Given the description of an element on the screen output the (x, y) to click on. 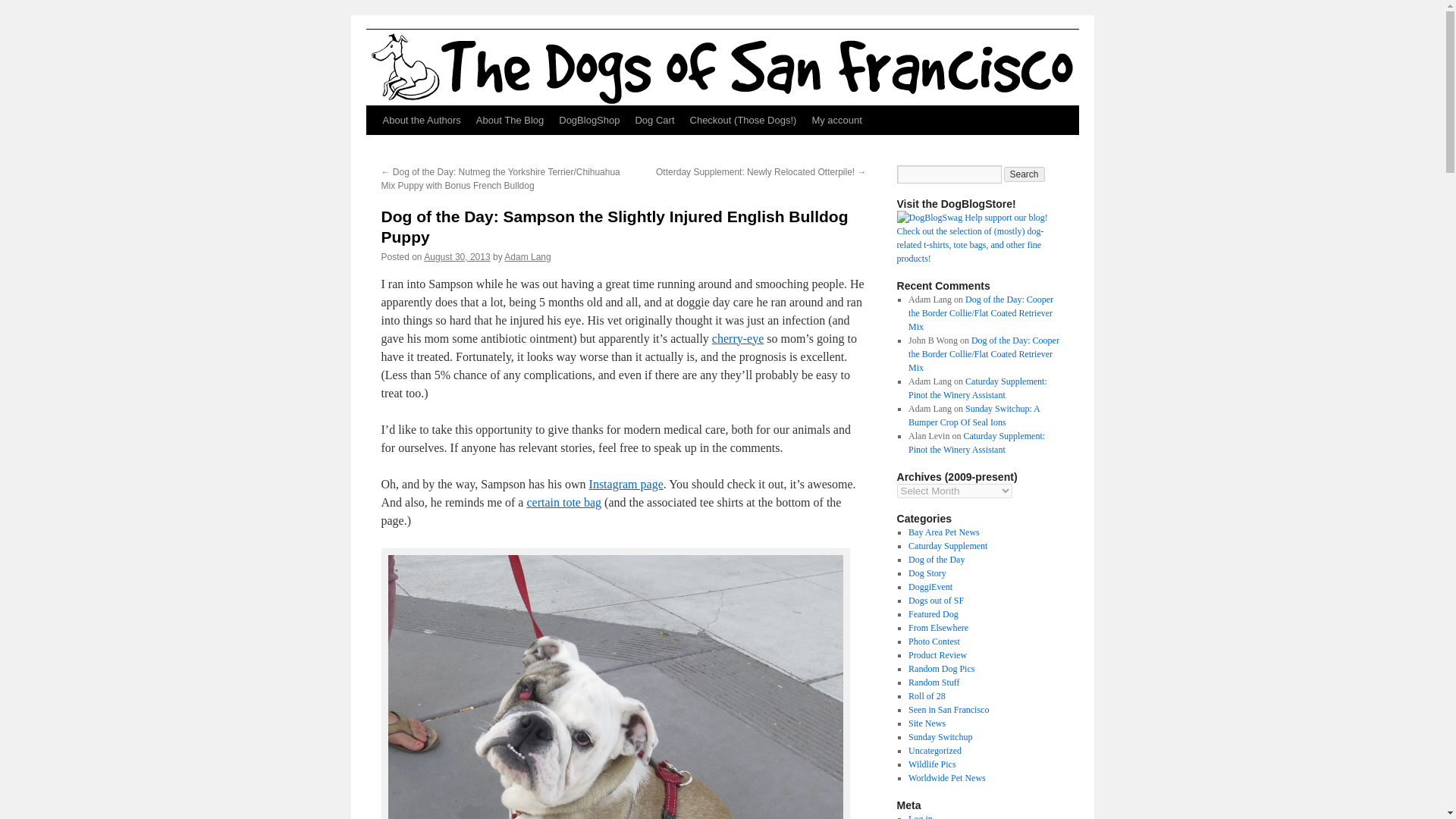
Search (1024, 174)
Bay Area Pet News (943, 532)
About the Authors (420, 120)
Caturday Supplement: Pinot the Winery Assistant (976, 442)
About The Blog (509, 120)
View all posts by Adam Lang (526, 256)
Search (1024, 174)
Instagram page (626, 483)
Sunday Switchup: A Bumper Crop Of Seal Ions (973, 415)
Adam Lang (526, 256)
August 30, 2013 (456, 256)
certain tote bag (563, 502)
Caturday Supplement: Pinot the Winery Assistant (977, 387)
9:54 pm (456, 256)
cherry-eye (736, 338)
